Given the description of an element on the screen output the (x, y) to click on. 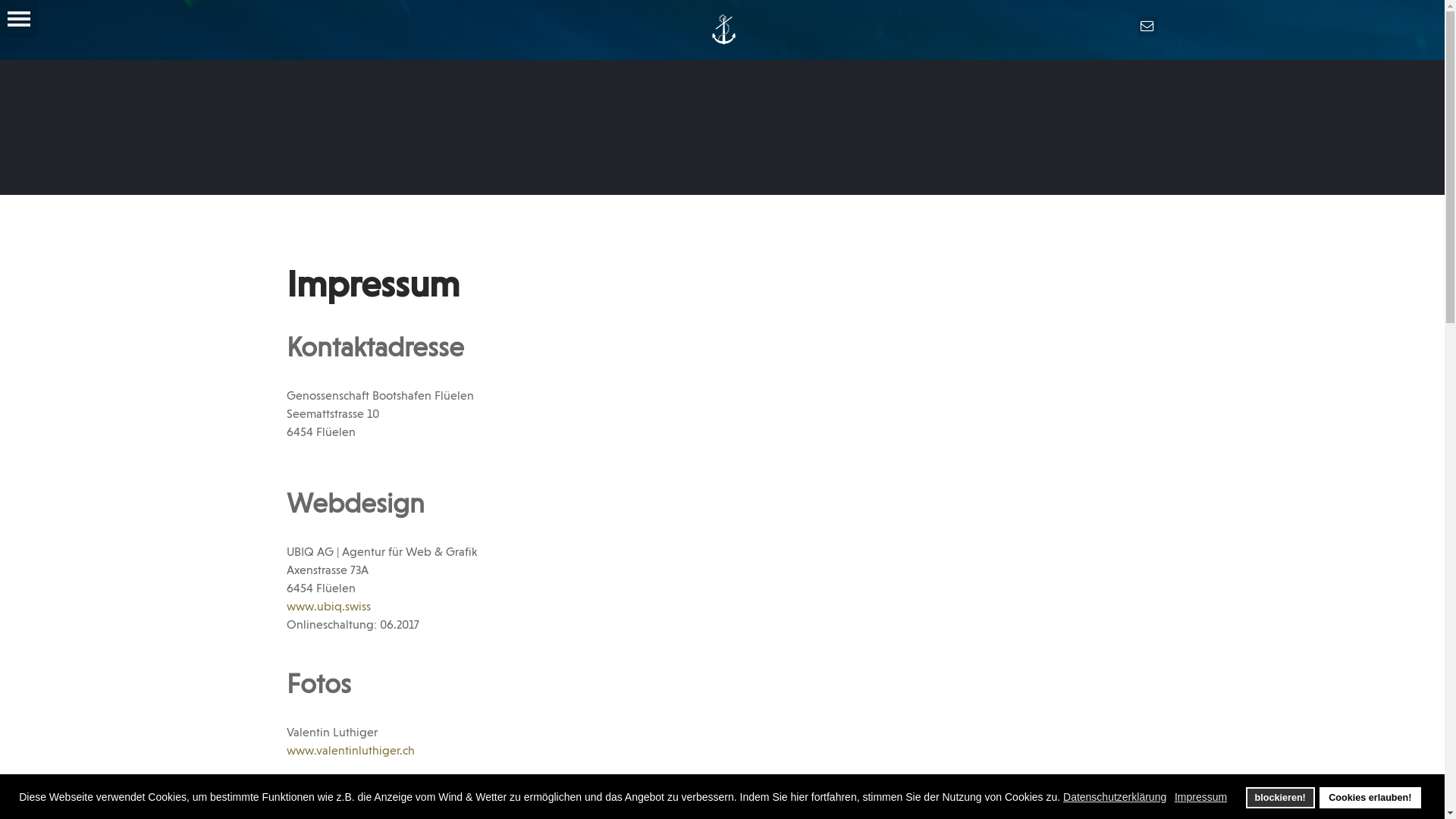
www.skyeye.ch Element type: text (326, 799)
www.valentinluthiger.ch Element type: text (350, 751)
Impressum Element type: text (1201, 796)
blockieren! Element type: text (1279, 797)
www.ubiq.swiss Element type: text (328, 607)
Cookies erlauben! Element type: text (1369, 797)
